Given the description of an element on the screen output the (x, y) to click on. 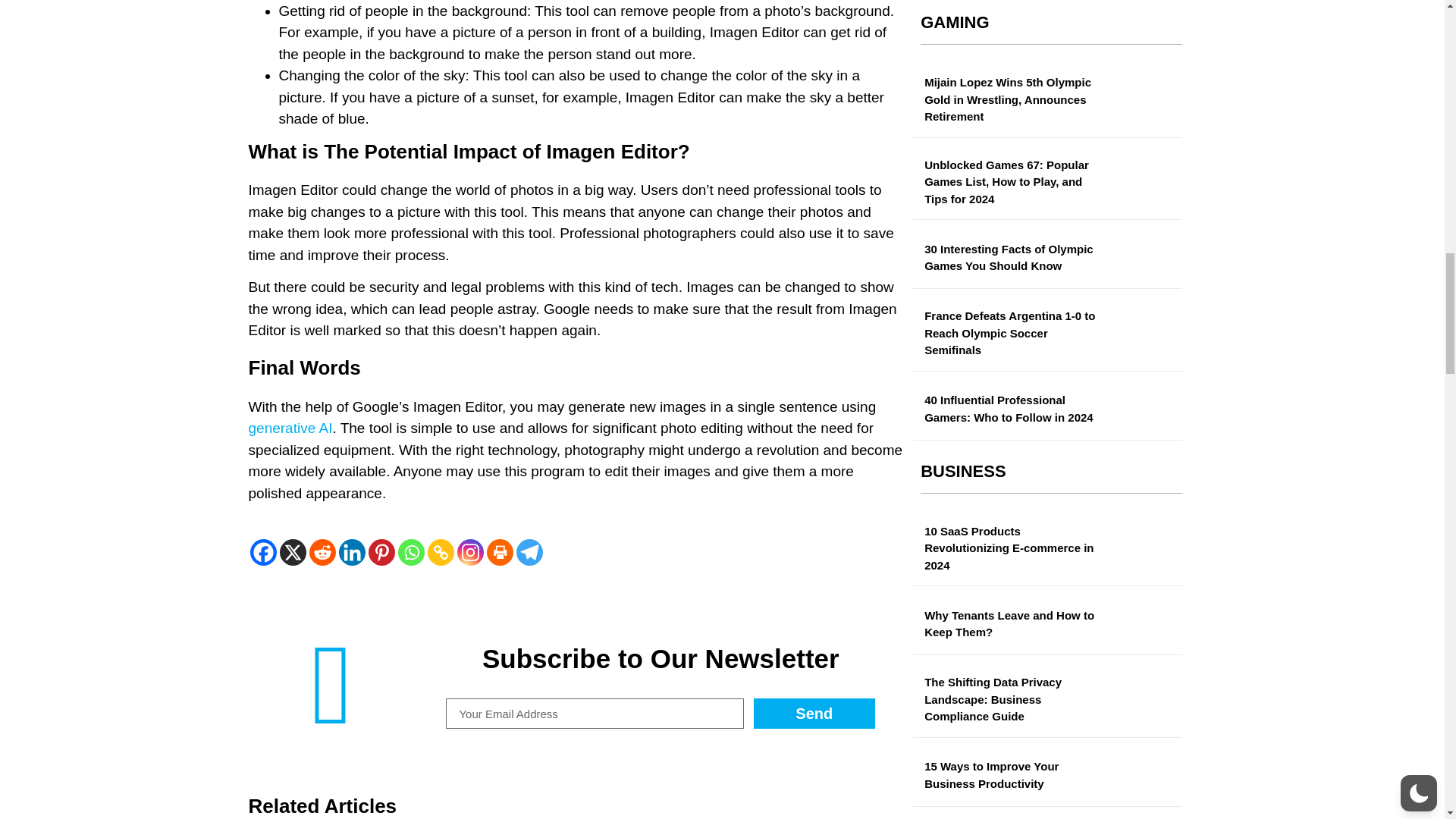
Pinterest (381, 551)
X (292, 551)
Reddit (322, 551)
Facebook (263, 551)
Linkedin (351, 551)
